Given the description of an element on the screen output the (x, y) to click on. 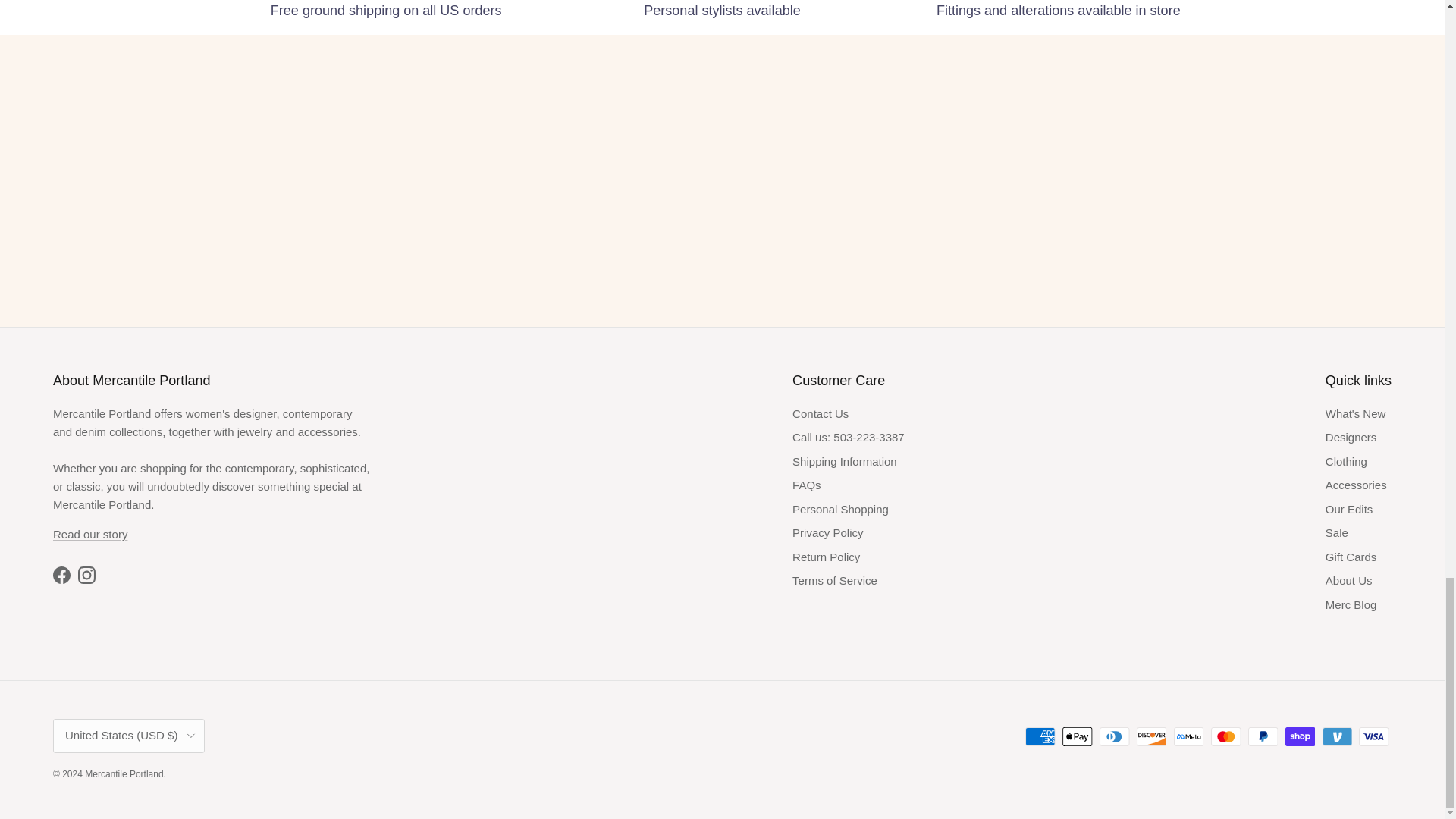
Discover (1151, 736)
ABOUT US (90, 533)
American Express (1040, 736)
Diners Club (1114, 736)
Mercantile Portland on Facebook (60, 574)
Mercantile Portland on Instagram (87, 574)
Meta Pay (1188, 736)
Apple Pay (1077, 736)
